Given the description of an element on the screen output the (x, y) to click on. 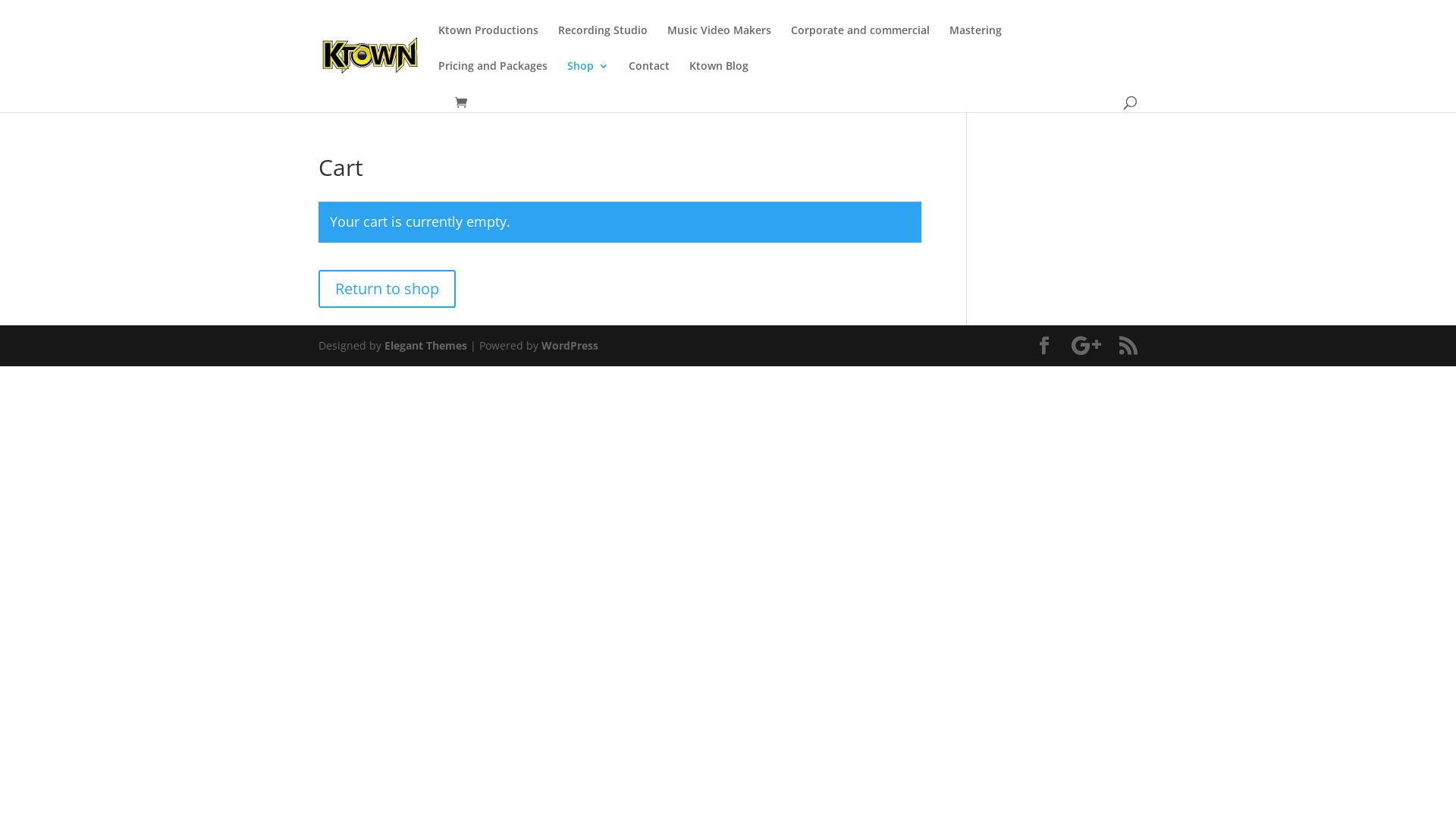
WordPress Element type: text (569, 345)
Corporate and commercial Element type: text (859, 42)
Ktown Productions Element type: text (488, 42)
Elegant Themes Element type: text (425, 345)
Return to shop Element type: text (386, 288)
Shop Element type: text (587, 78)
Ktown Blog Element type: text (718, 78)
Music Video Makers Element type: text (719, 42)
Pricing and Packages Element type: text (492, 78)
Mastering Element type: text (975, 42)
Contact Element type: text (648, 78)
Recording Studio Element type: text (602, 42)
